Given the description of an element on the screen output the (x, y) to click on. 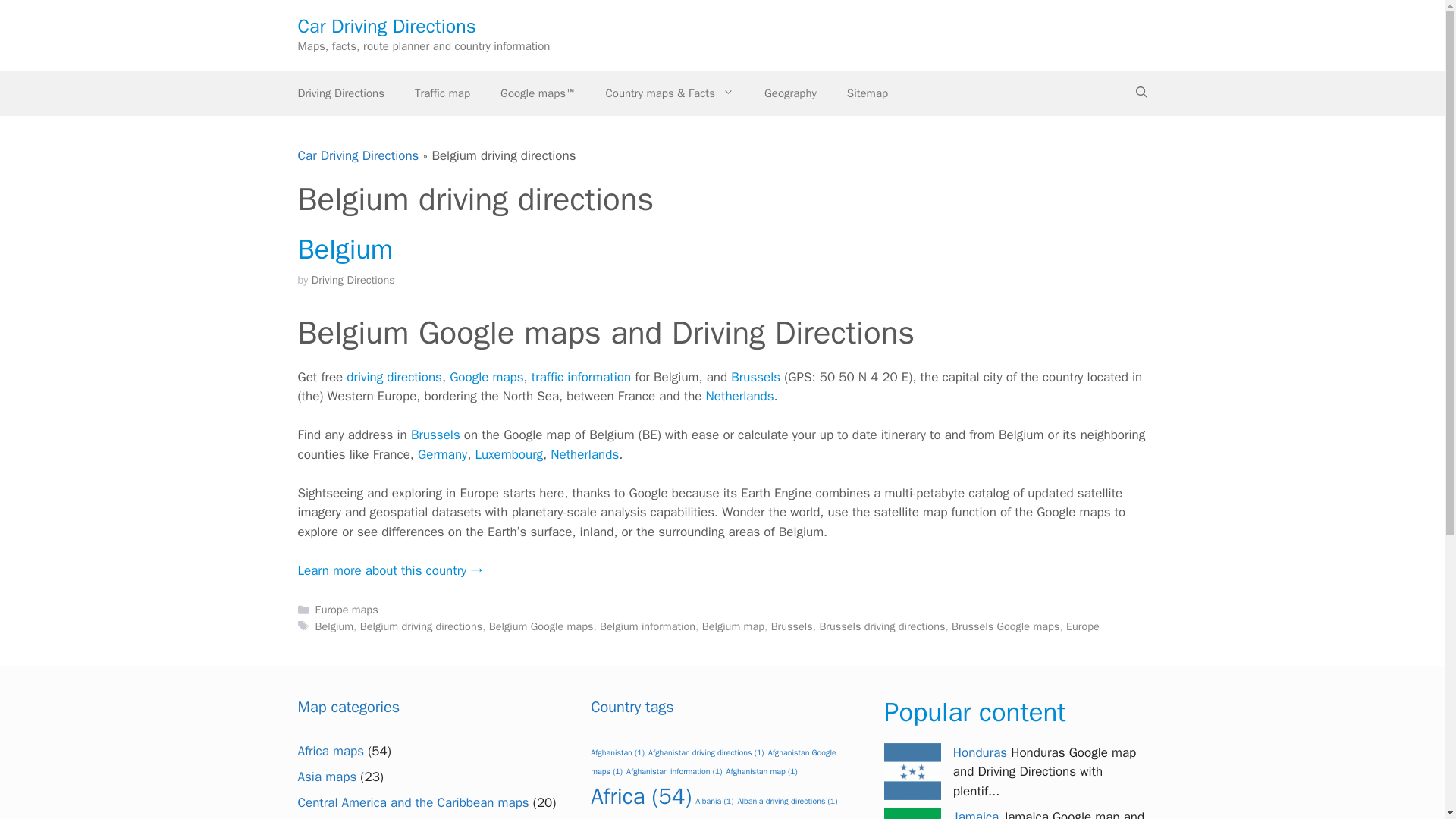
Brussels (435, 434)
Sitemap (866, 92)
Car Driving Directions (358, 154)
Luxembourg (508, 454)
Brussels (755, 376)
Earth information and facts (790, 92)
Driving Directions (352, 279)
Belgium (345, 248)
Traffic map (441, 92)
Netherlands (584, 454)
